Given the description of an element on the screen output the (x, y) to click on. 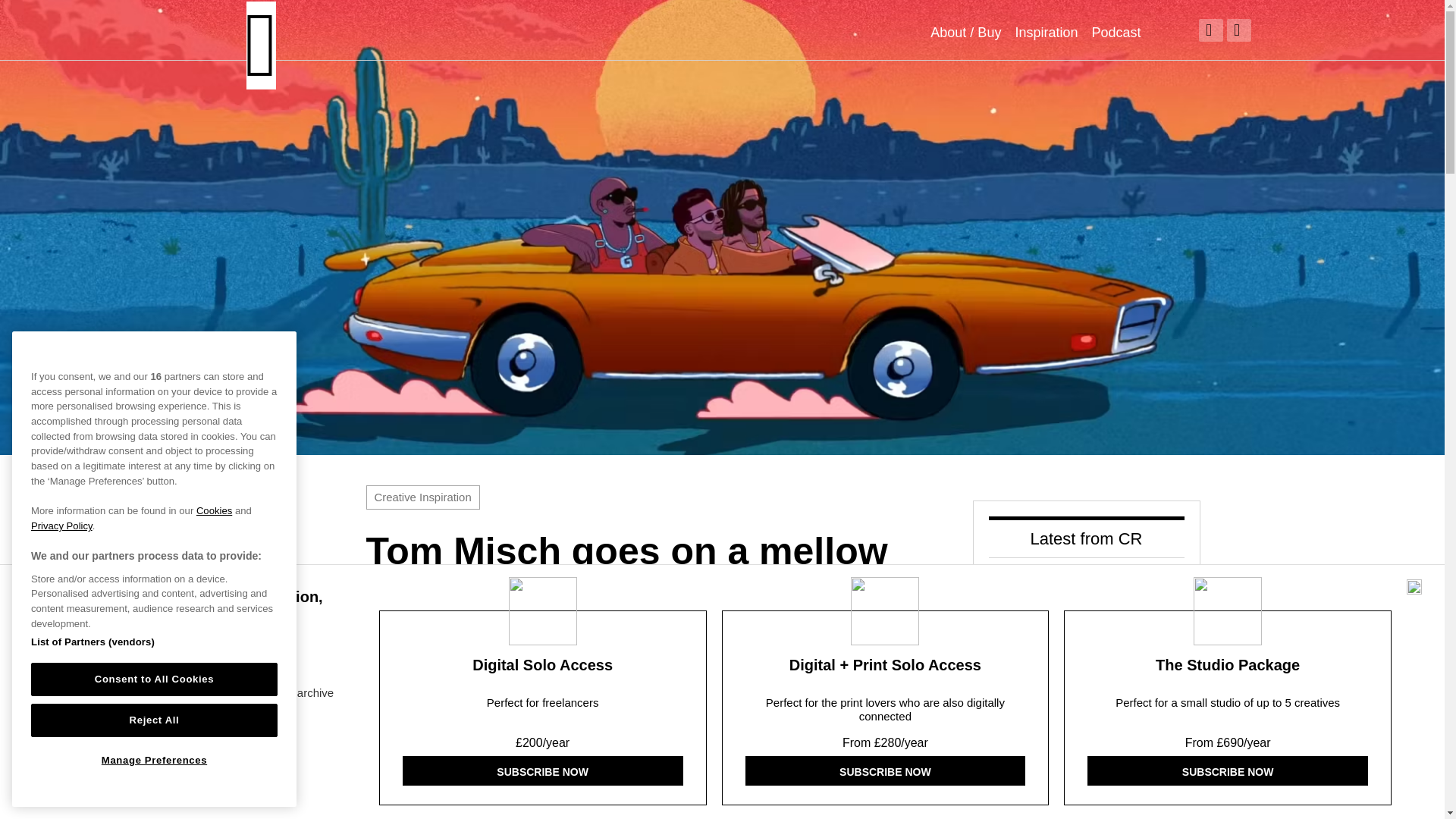
Posts by Megan Williams (421, 781)
Megan Williams (421, 781)
Inspiration (1045, 32)
Adidas launches Olympics ad ahead of Paris 2024 (1131, 797)
The humanist photography of Louis Stettner (1131, 697)
Podcast (1115, 32)
Creative Inspiration (422, 497)
